Given the description of an element on the screen output the (x, y) to click on. 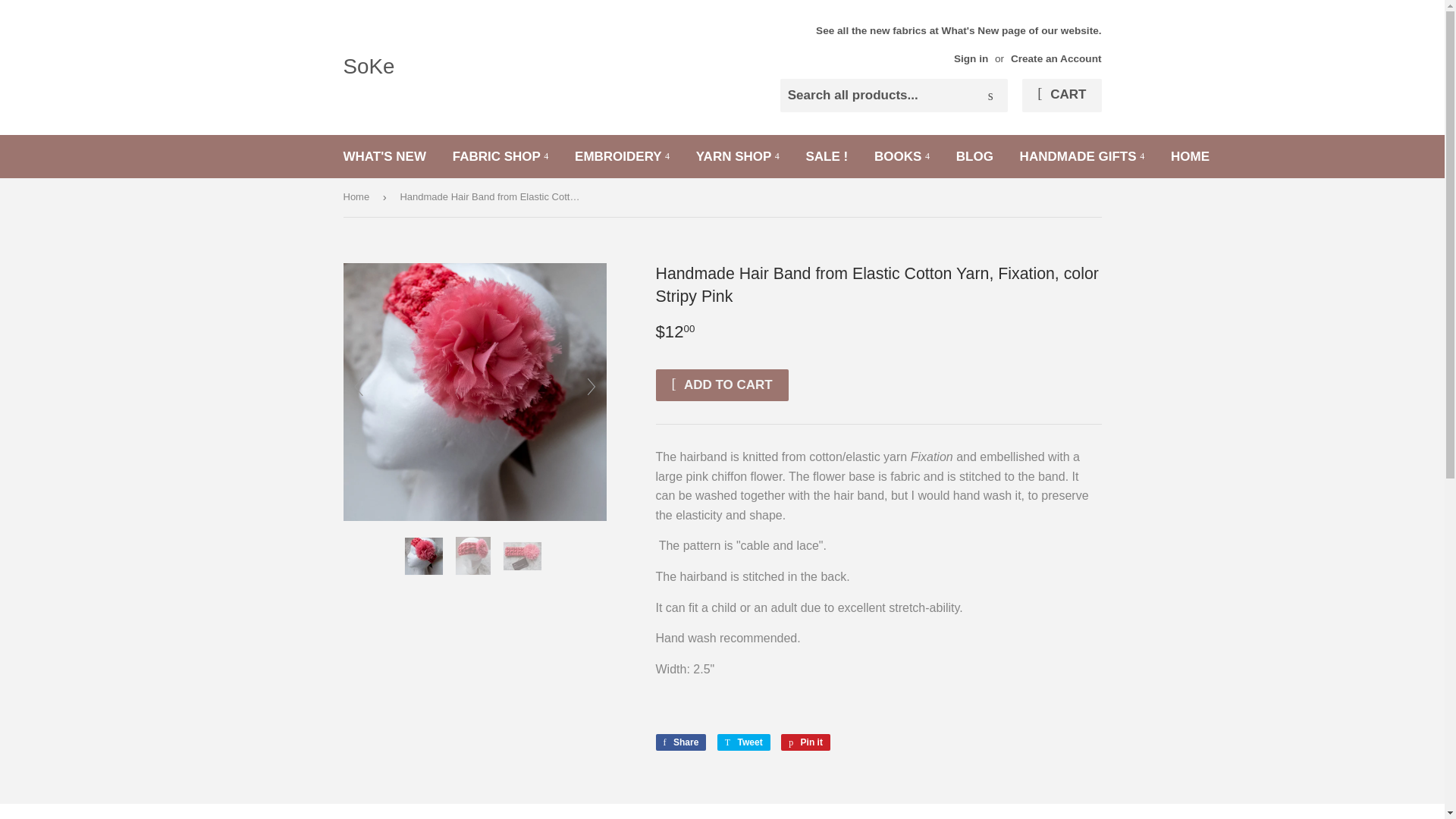
CART (1061, 95)
Sign in (970, 58)
Create an Account (1056, 58)
WHAT'S NEW (384, 156)
Search (990, 96)
SoKe (532, 66)
See all the new fabrics at What's New page of our website. (957, 43)
Tweet on Twitter (743, 742)
Share on Facebook (680, 742)
FABRIC SHOP (500, 156)
Pin on Pinterest (804, 742)
